Given the description of an element on the screen output the (x, y) to click on. 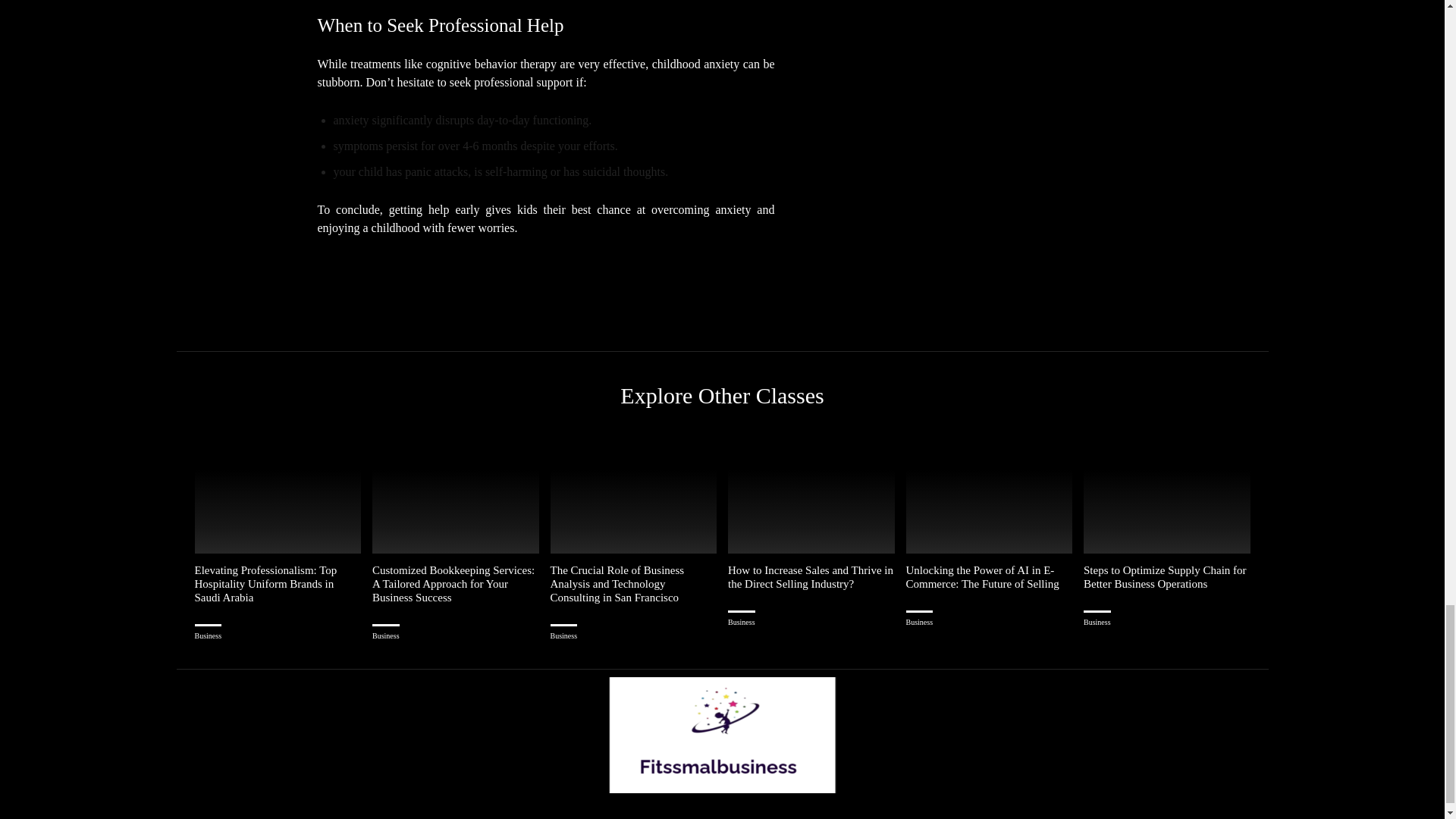
Business (207, 635)
